Given the description of an element on the screen output the (x, y) to click on. 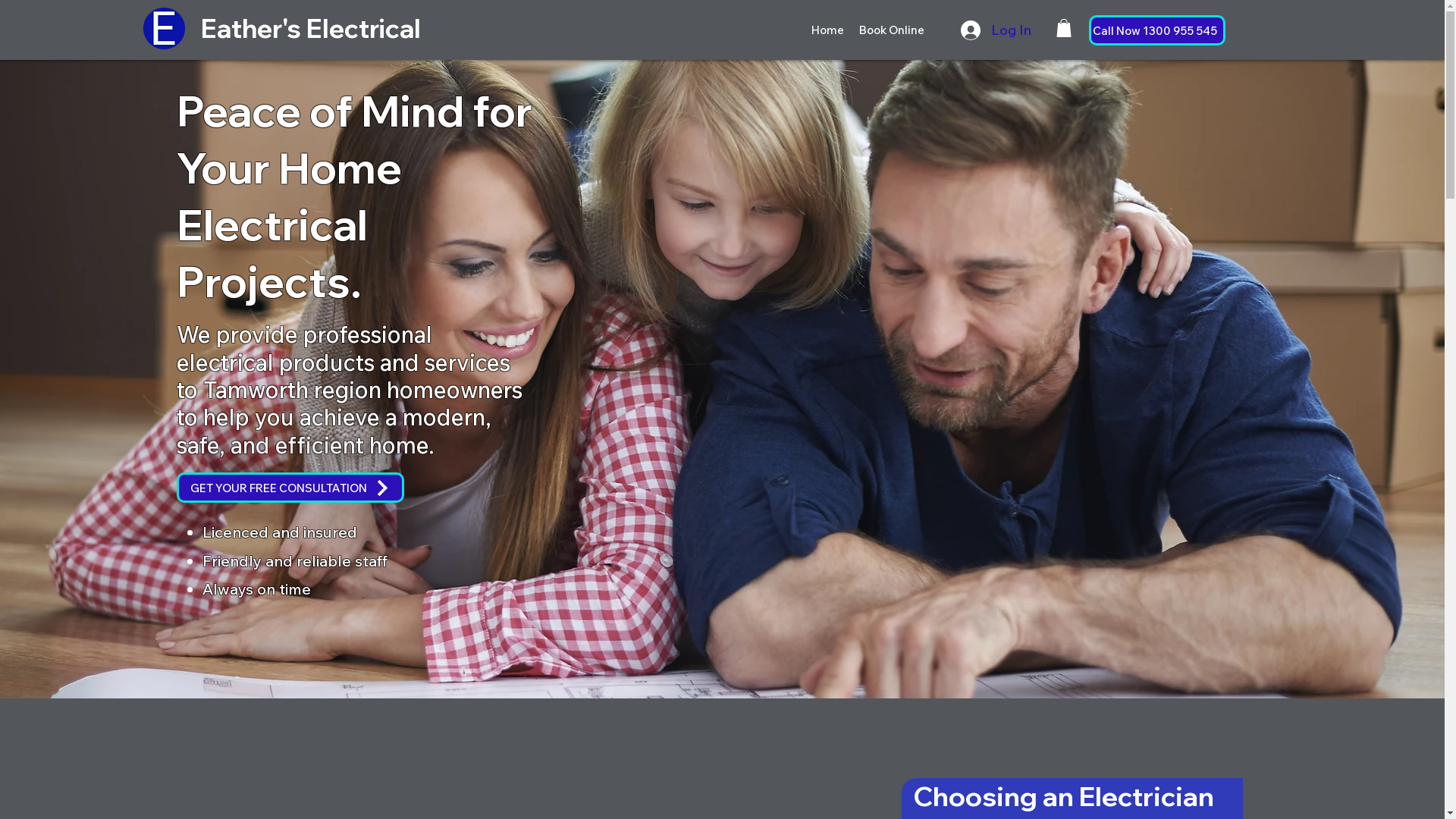
Log In Element type: text (975, 30)
Call Now 1300 955 545 Element type: text (1156, 30)
0 Element type: text (1062, 27)
Home Element type: text (827, 29)
Home Element type: hover (164, 28)
Book Online Element type: text (891, 29)
GET YOUR FREE CONSULTATION Element type: text (290, 487)
